Given the description of an element on the screen output the (x, y) to click on. 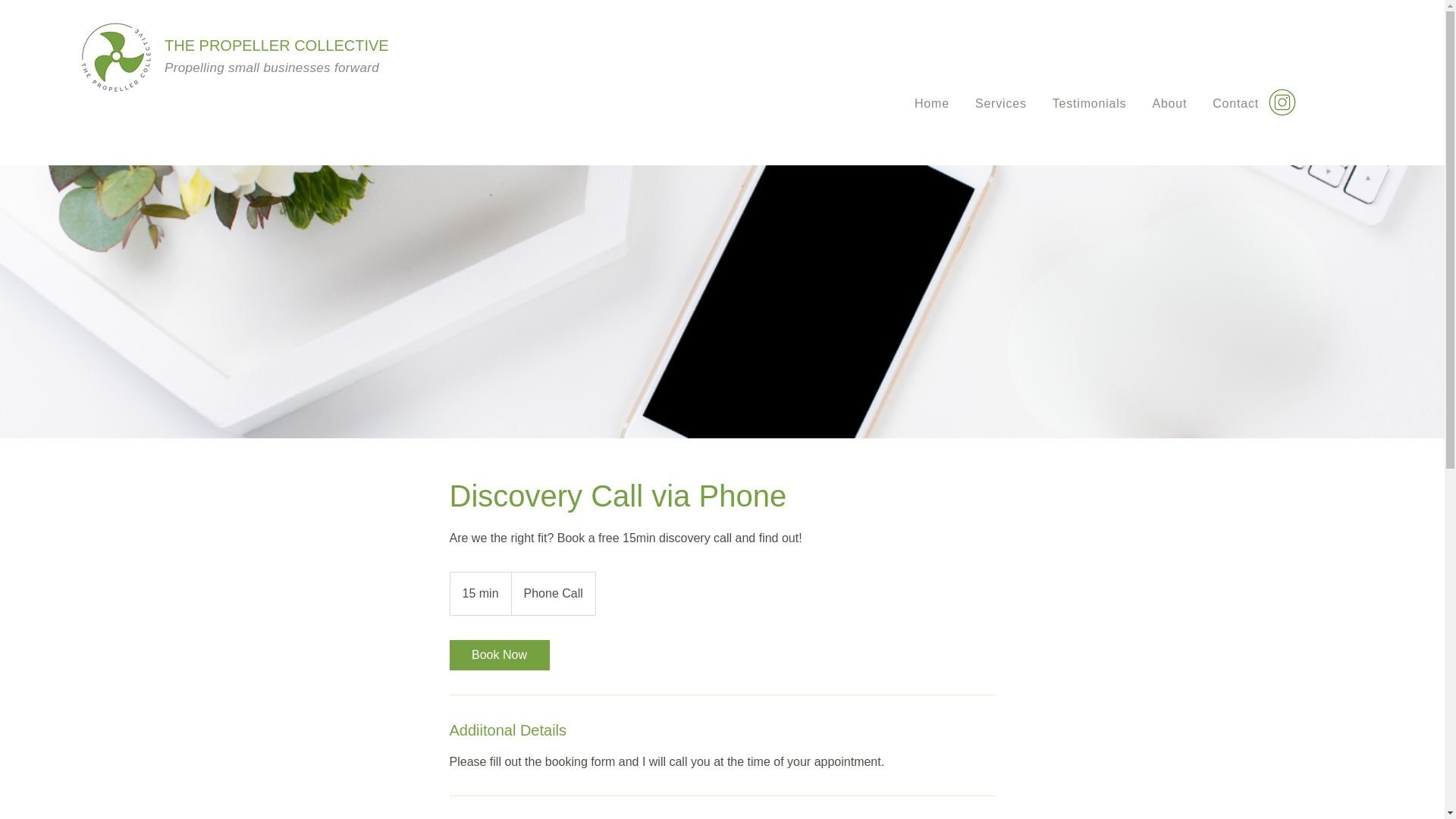
Services (1000, 103)
Testimonials (1089, 103)
Contact (1235, 103)
Home (931, 103)
THE PROPELLER COLLECTIVE (276, 45)
About (1168, 103)
Propelling small businesses forward (271, 67)
Book Now (498, 654)
1 TPC Full Logo DG Text Green Prop.png (115, 56)
